Given the description of an element on the screen output the (x, y) to click on. 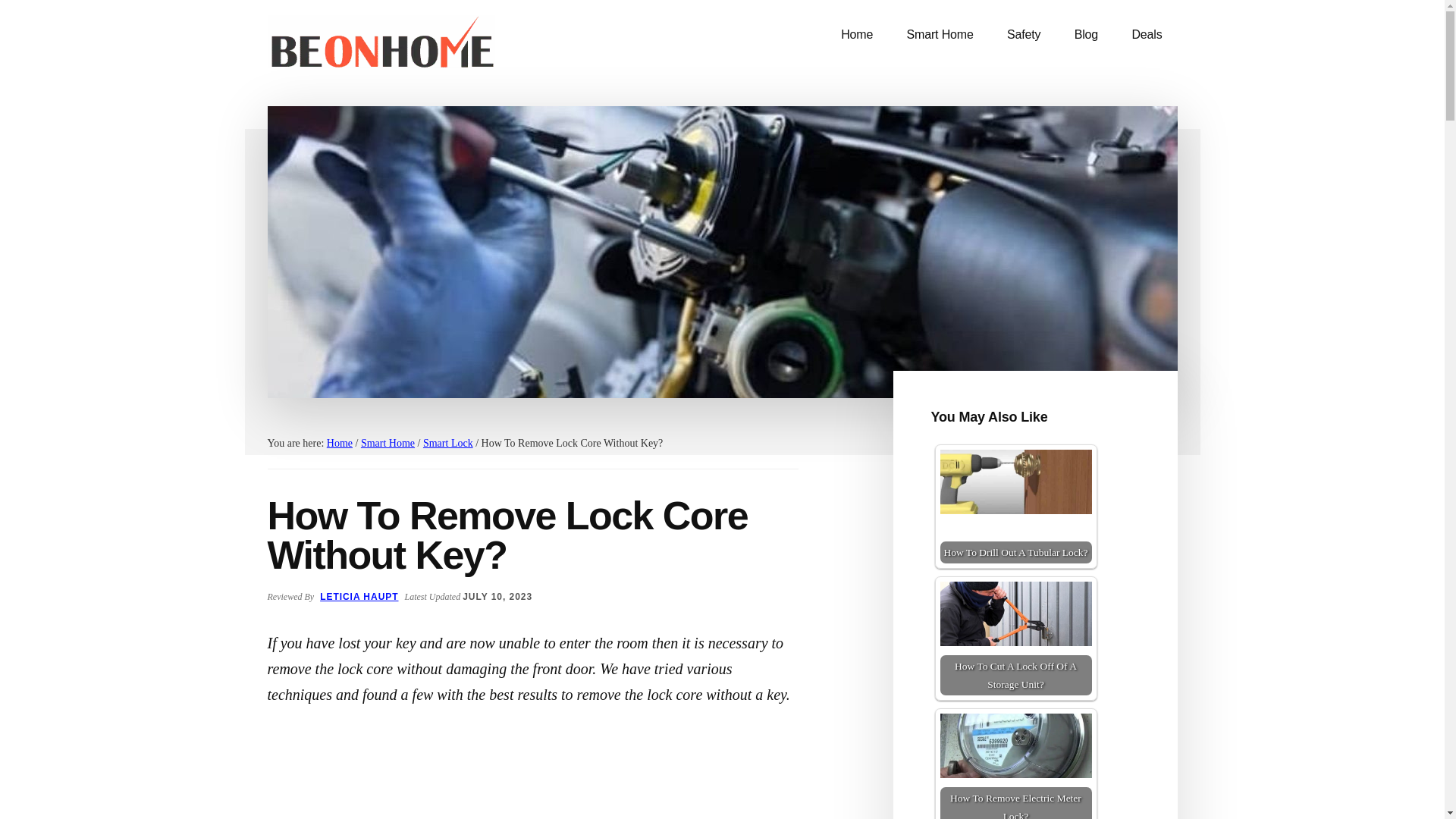
Blog (1086, 34)
Deals (1146, 34)
Home (856, 34)
Home (339, 442)
Safety (1023, 34)
LETICIA HAUPT (358, 596)
Advertisement (531, 776)
Smart Home (387, 442)
Smart Lock (448, 442)
Smart Home (939, 34)
BeOnHome (380, 45)
